Given the description of an element on the screen output the (x, y) to click on. 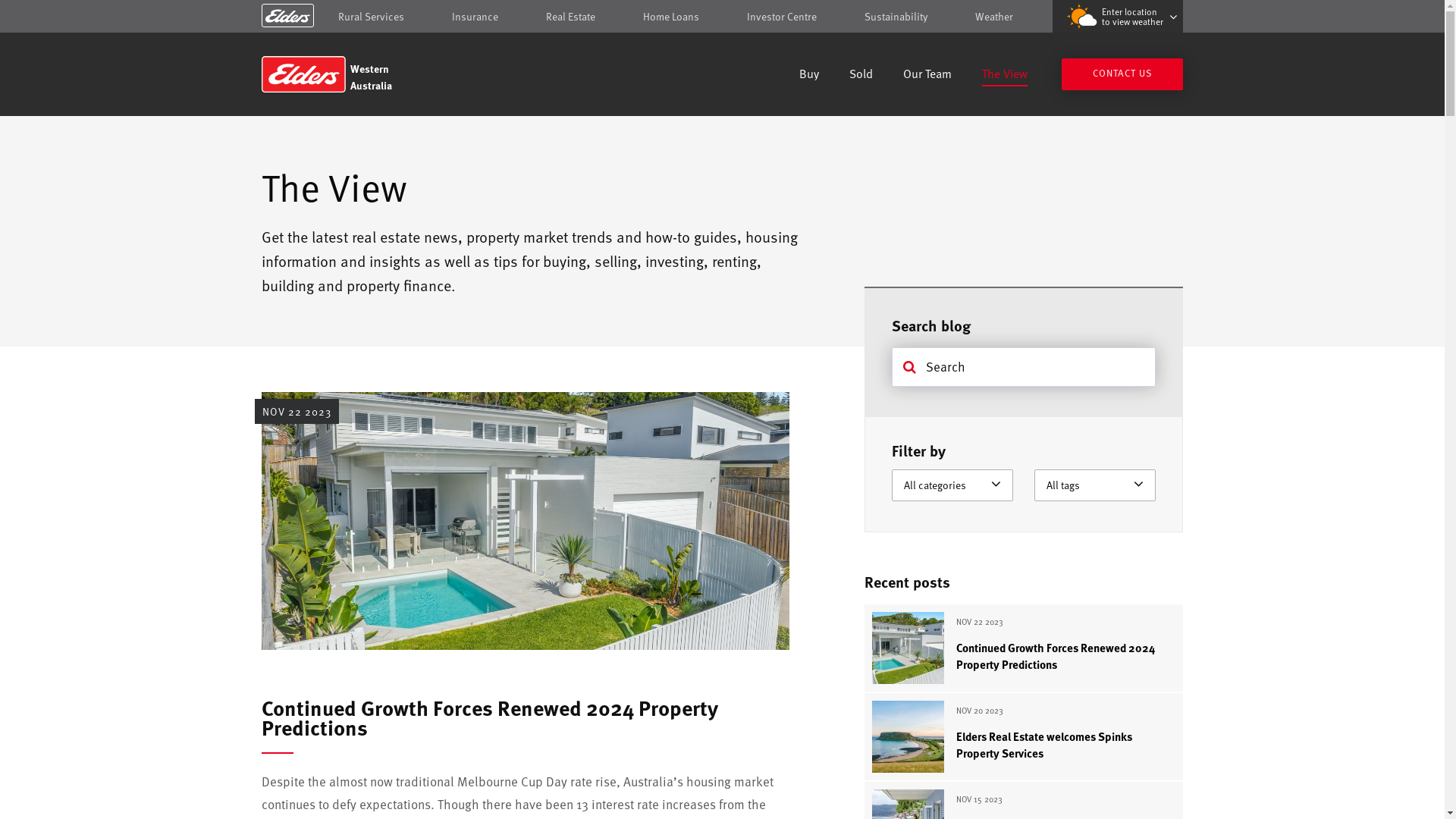
Rural Services Element type: text (371, 16)
Sustainability Element type: text (895, 16)
Continued Growth Forces Renewed 2024 Property Predictions Element type: text (489, 717)
Skip to content Element type: text (722, 17)
Real Estate Element type: text (570, 16)
Weather Element type: text (994, 16)
Enter location to view weather Element type: text (1117, 16)
Western Australia Element type: text (369, 74)
Insurance Element type: text (474, 16)
Home Loans Element type: text (671, 16)
Sold Element type: text (860, 75)
CONTACT US Element type: text (1122, 74)
Investor Centre Element type: text (781, 16)
The View Element type: text (1004, 75)
Buy Element type: text (809, 75)
Our Team Element type: text (927, 75)
